Given the description of an element on the screen output the (x, y) to click on. 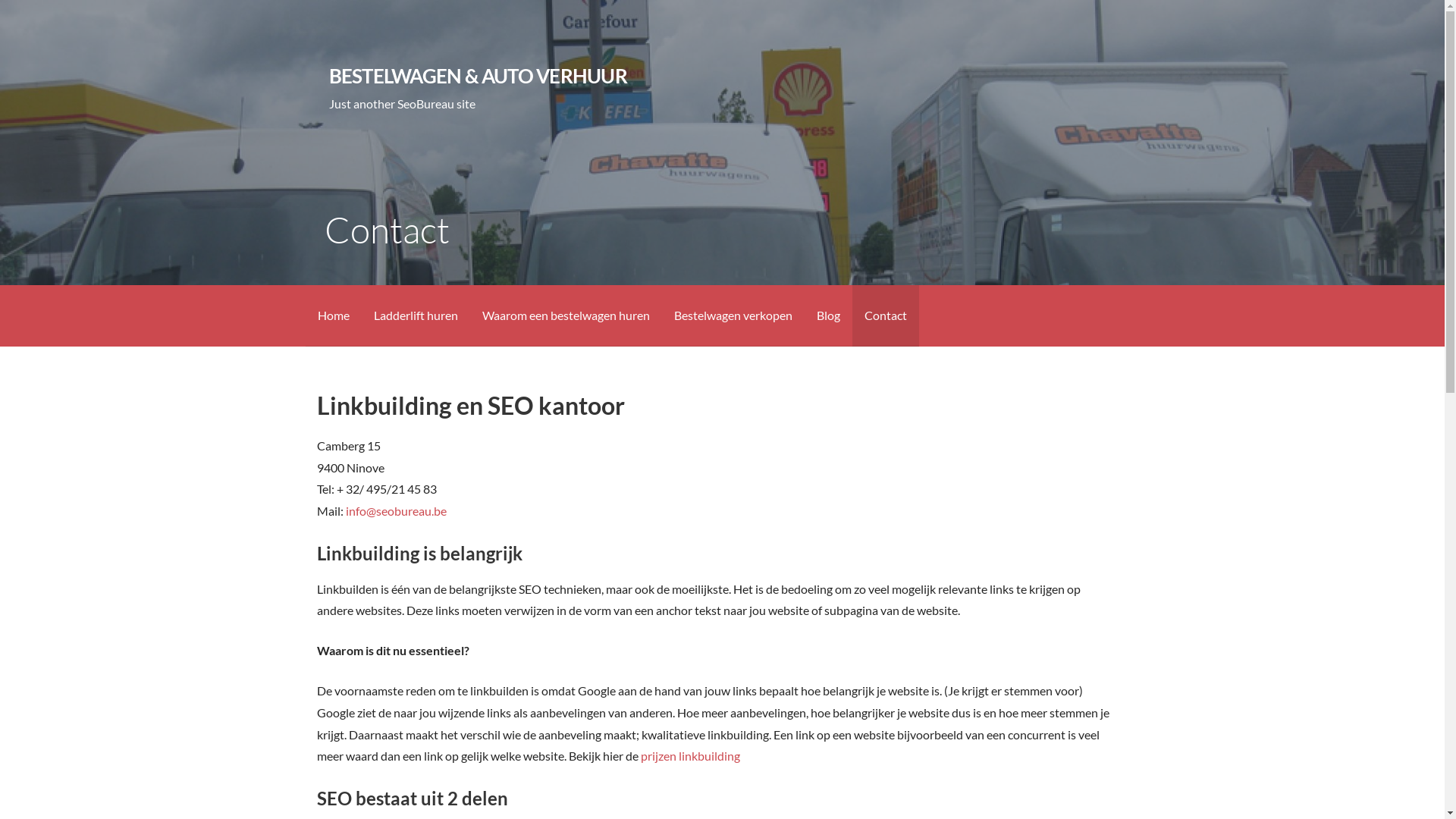
BESTELWAGEN & AUTO VERHUUR Element type: text (478, 75)
Waarom een bestelwagen huren Element type: text (566, 315)
Ladderlift huren Element type: text (414, 315)
prijzen linkbuilding Element type: text (690, 755)
Contact Element type: text (885, 315)
Bestelwagen verkopen Element type: text (732, 315)
Blog Element type: text (827, 315)
info@seobureau.be Element type: text (395, 510)
Home Element type: text (332, 315)
